Given the description of an element on the screen output the (x, y) to click on. 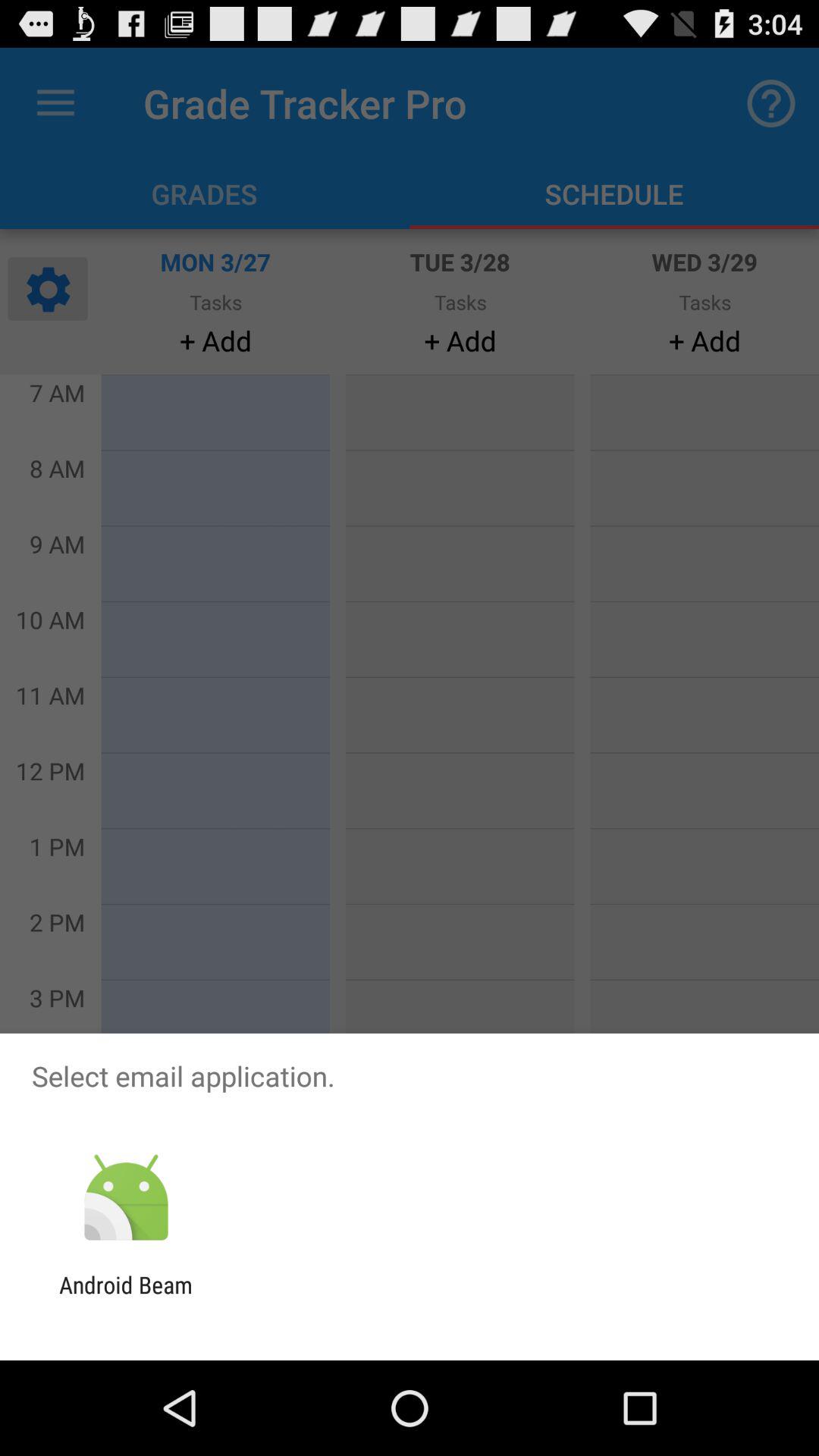
turn off item below the select email application. (126, 1198)
